Given the description of an element on the screen output the (x, y) to click on. 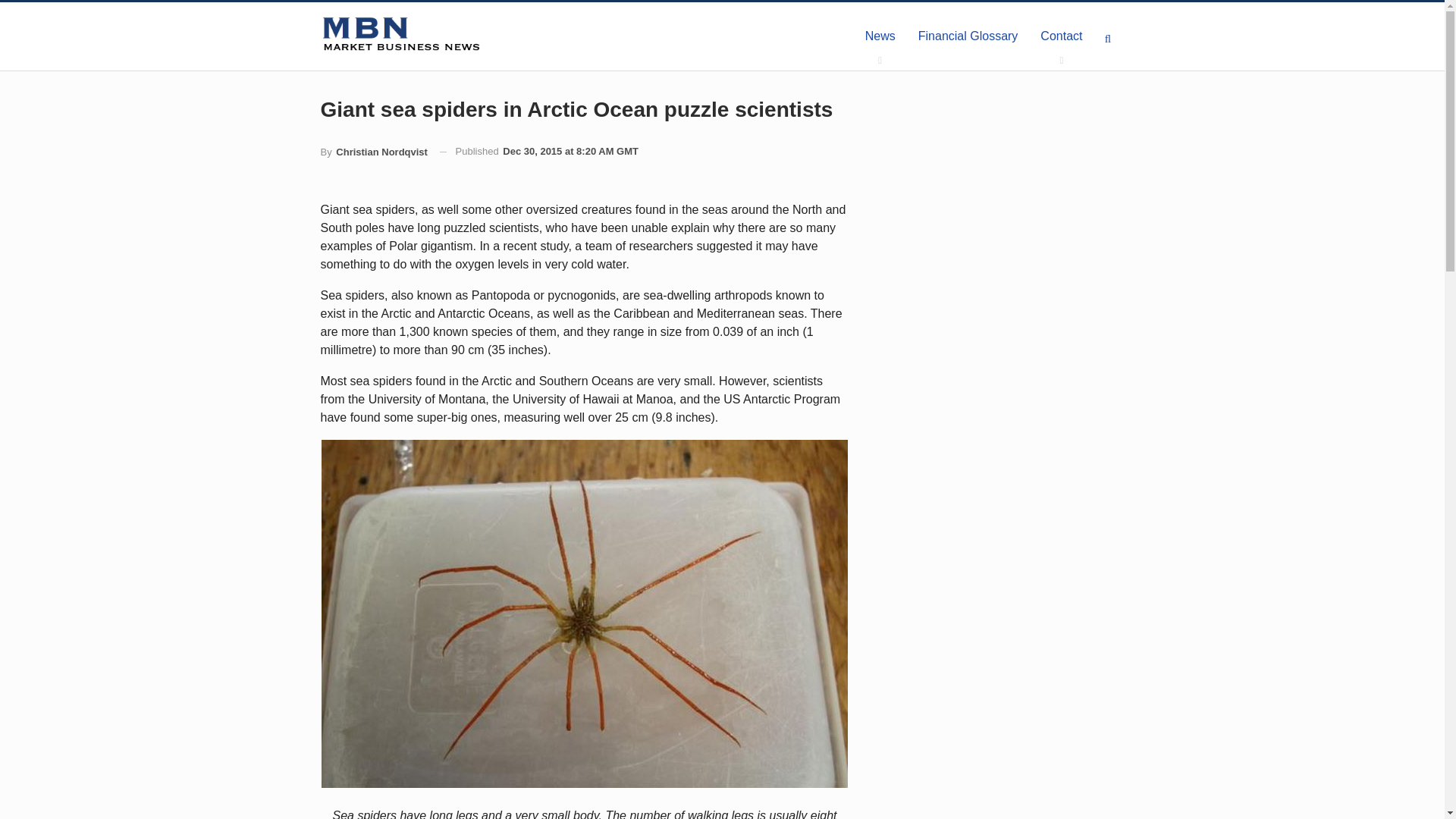
Financial Glossary (968, 36)
By Christian Nordqvist (373, 152)
Contact (1061, 36)
Browse Author Articles (373, 152)
